Given the description of an element on the screen output the (x, y) to click on. 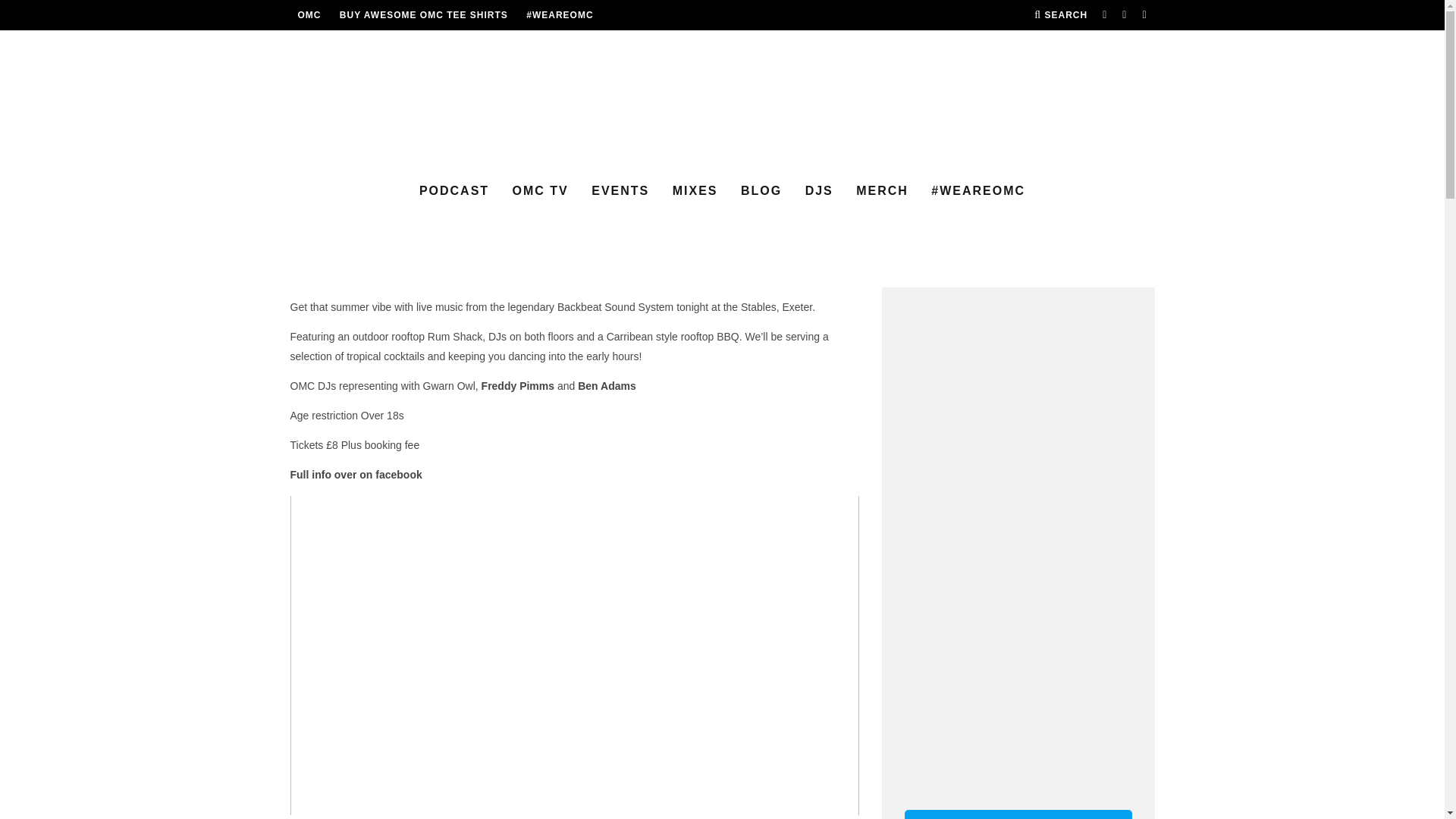
OMC TV (540, 191)
PODCAST (453, 191)
EVENTS (620, 191)
Search (1060, 15)
SEARCH (1060, 15)
BUY AWESOME OMC TEE SHIRTS (423, 15)
